Given the description of an element on the screen output the (x, y) to click on. 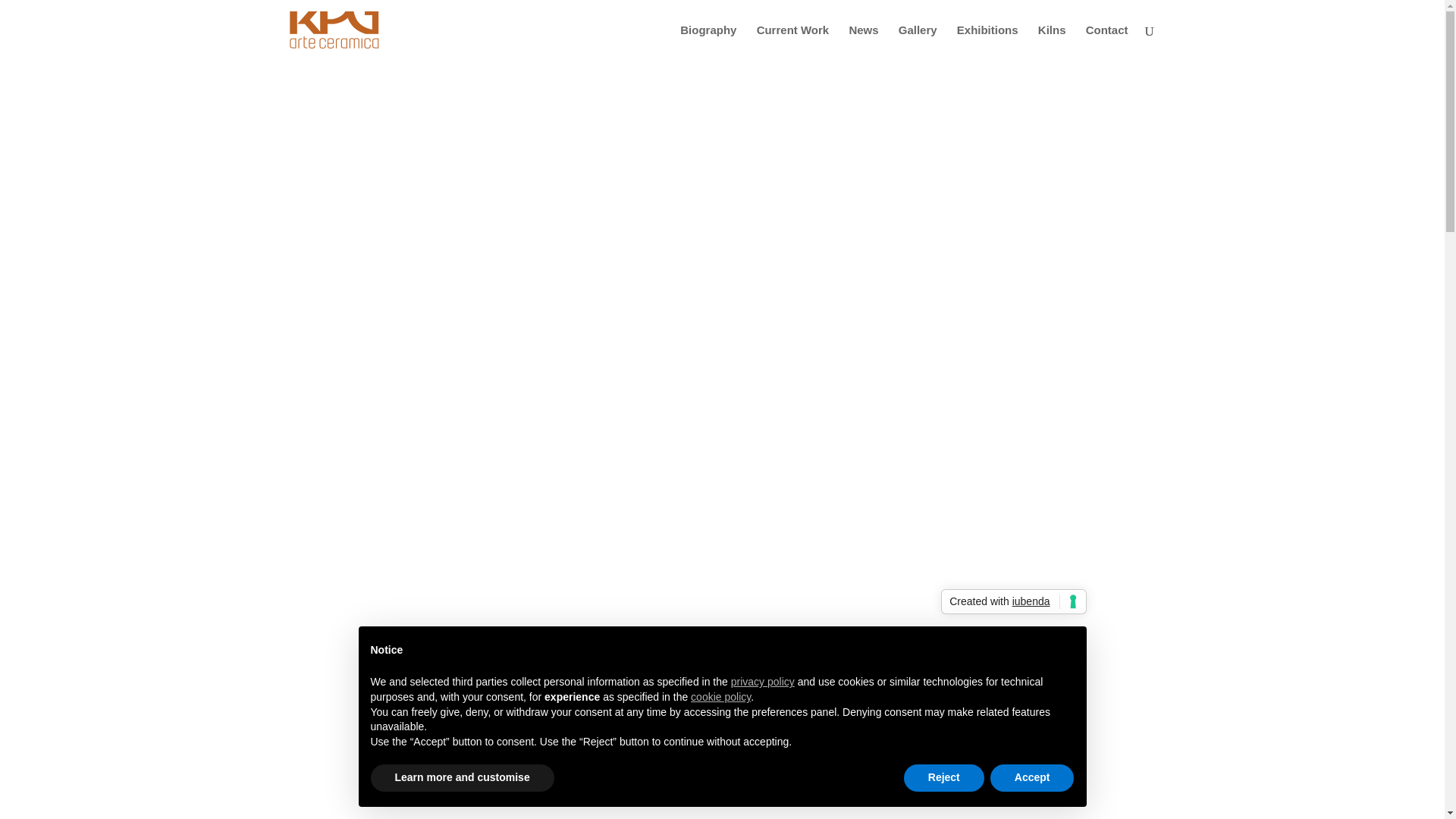
Created with iubenda (1013, 601)
Current Work (793, 42)
Accept (1032, 777)
Gallery (917, 42)
Exhibitions (986, 42)
Contact (1107, 42)
Learn more and customise (461, 777)
iubenda - Cookie Policy and Cookie Compliance Management (1013, 601)
privacy policy (762, 681)
Reject (944, 777)
